Given the description of an element on the screen output the (x, y) to click on. 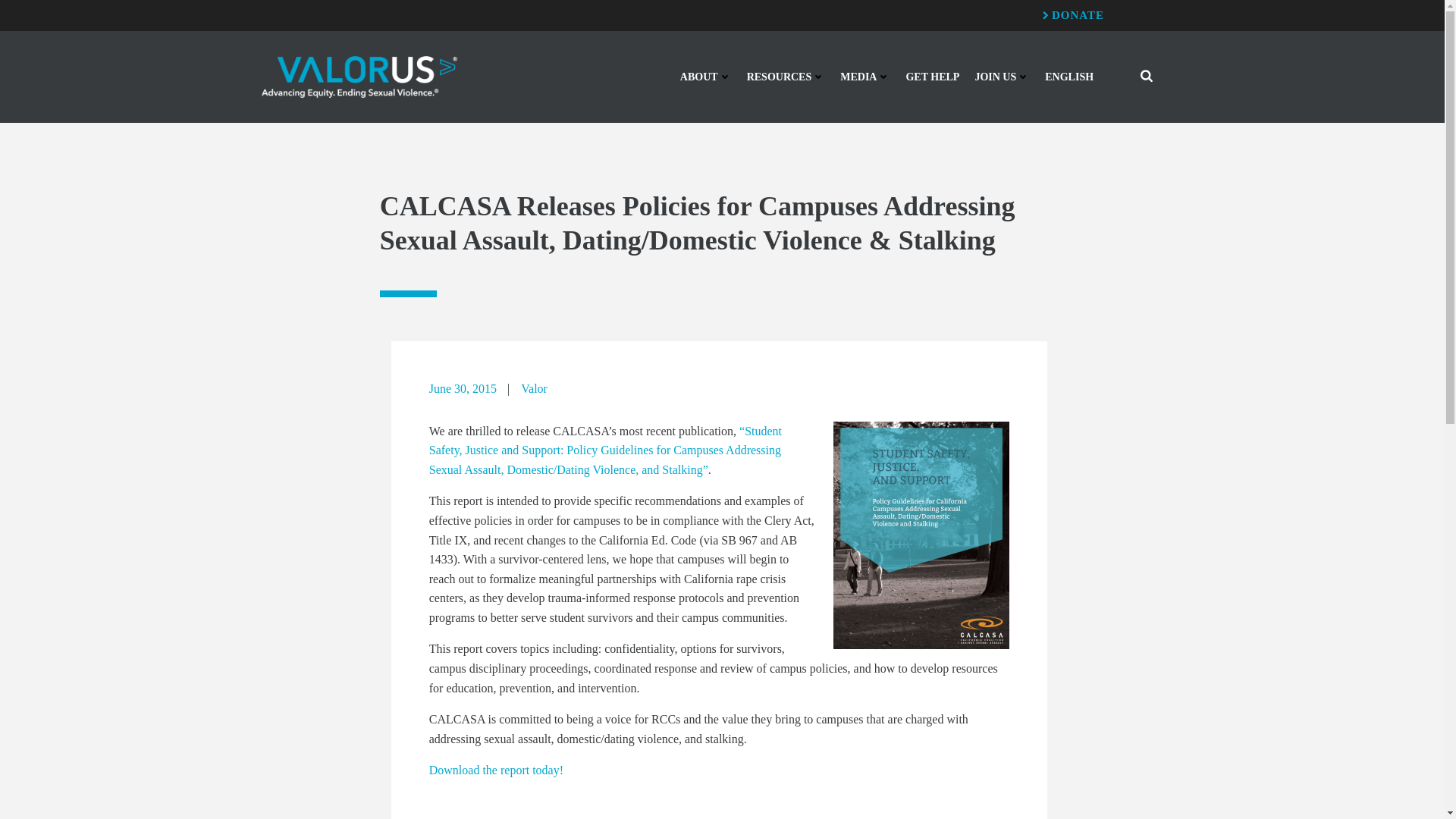
RESOURCES (785, 80)
JOIN US (1001, 76)
DONATE (1072, 15)
GET HELP (932, 76)
MEDIA (864, 78)
ENGLISH (1069, 76)
ABOUT (705, 88)
